Given the description of an element on the screen output the (x, y) to click on. 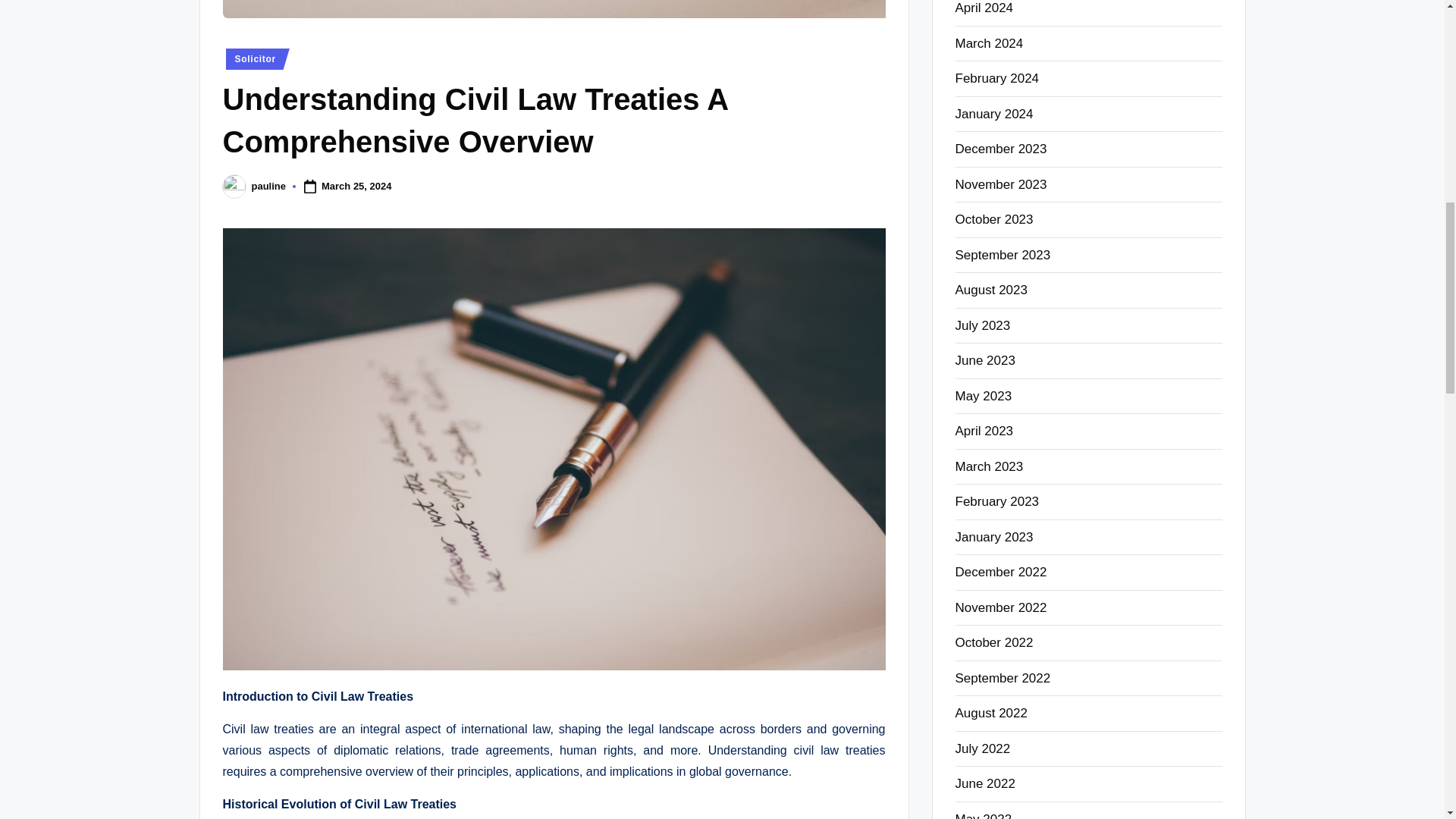
View all posts by pauline (268, 185)
Understanding Civil Law Treaties A Comprehensive Overview (553, 9)
